Given the description of an element on the screen output the (x, y) to click on. 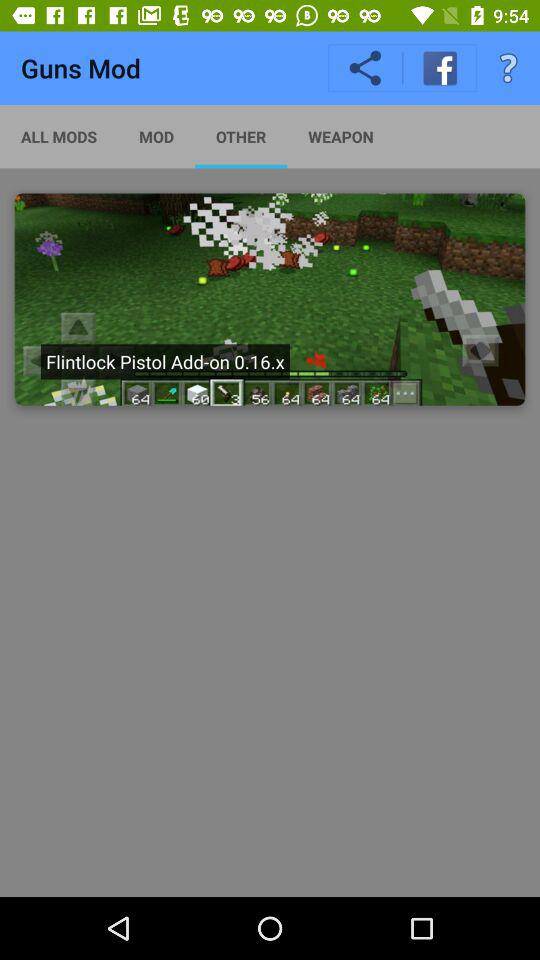
open details (269, 299)
